Given the description of an element on the screen output the (x, y) to click on. 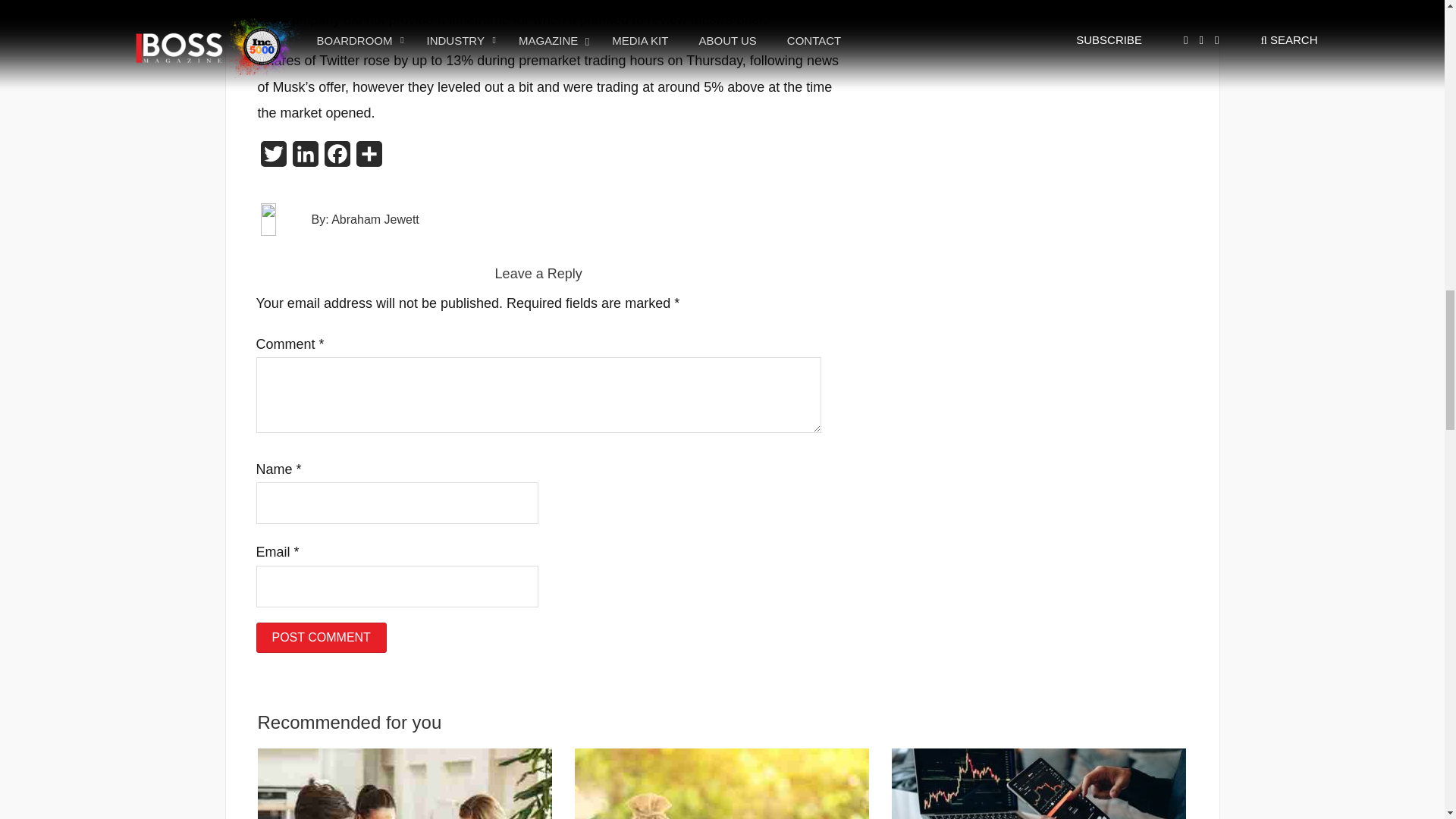
Post Comment (321, 636)
Facebook (337, 158)
LinkedIn (305, 158)
Twitter (273, 158)
